Given the description of an element on the screen output the (x, y) to click on. 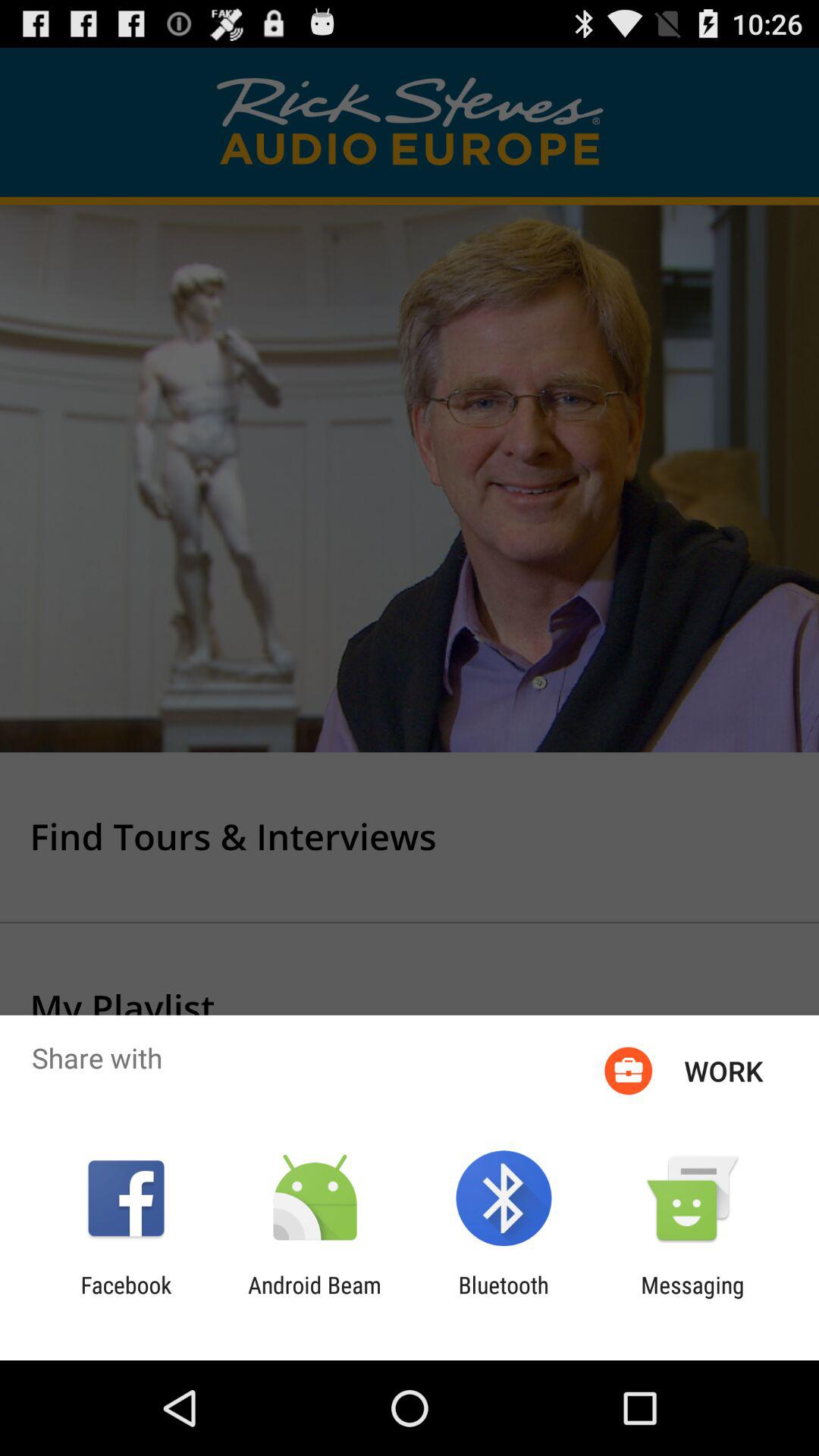
choose icon next to the android beam icon (503, 1298)
